Given the description of an element on the screen output the (x, y) to click on. 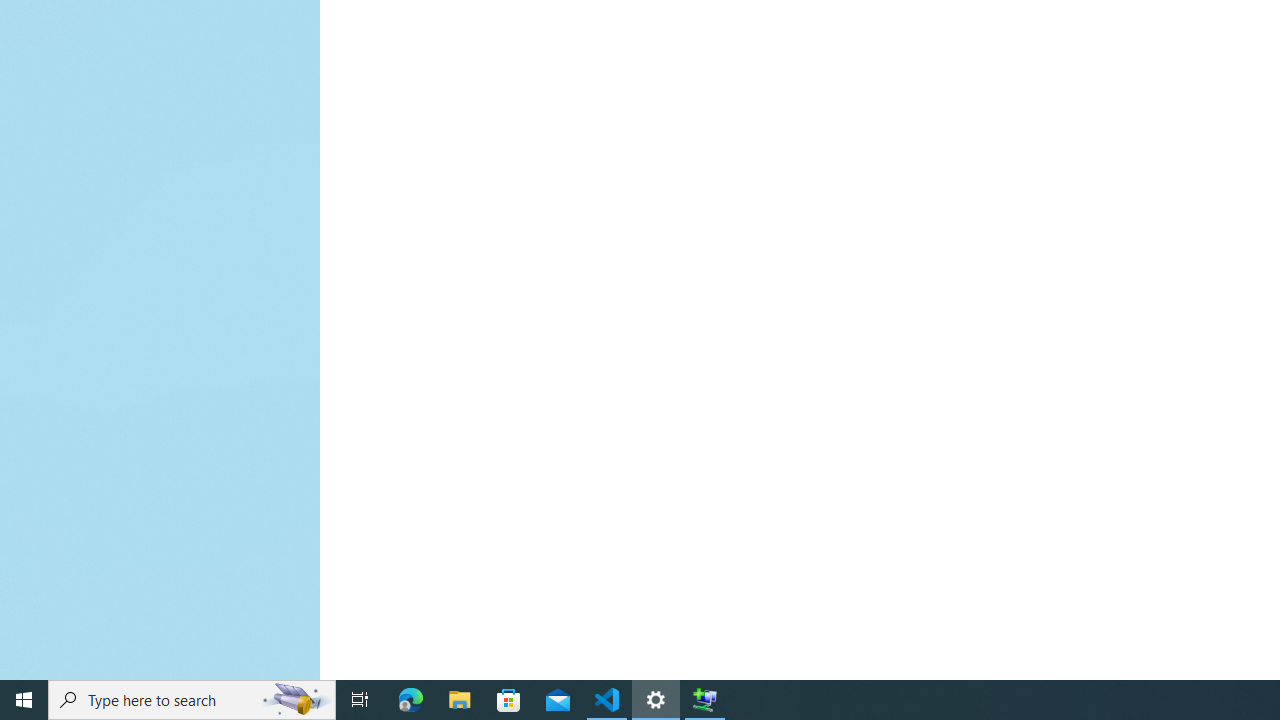
Extensible Wizards Host Process - 1 running window (704, 699)
